Given the description of an element on the screen output the (x, y) to click on. 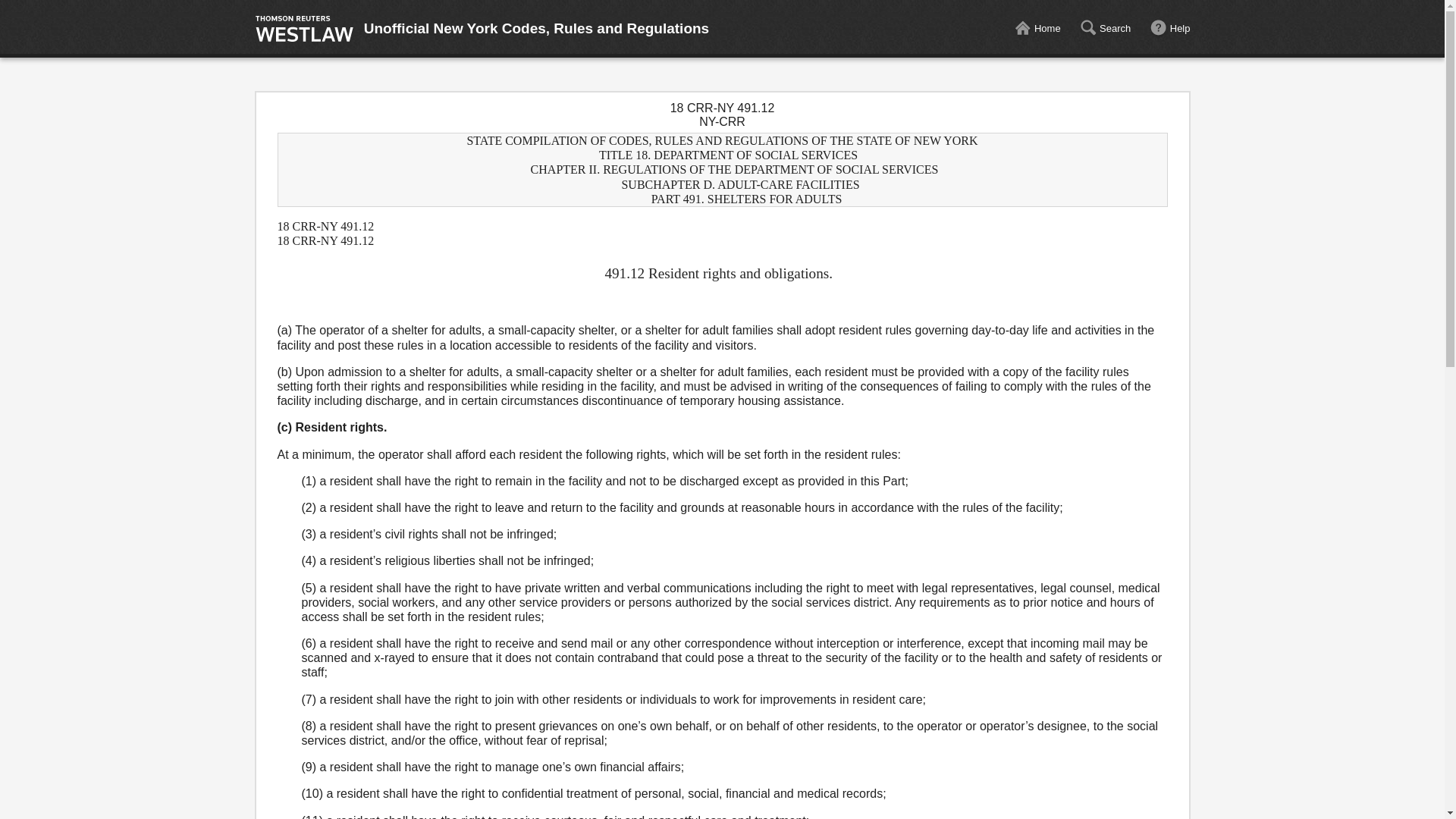
Help (1170, 28)
Unofficial New York Codes, Rules and Regulations (536, 28)
Search (1104, 28)
Home (1037, 28)
Thomson Reuters Westlaw (303, 28)
